Given the description of an element on the screen output the (x, y) to click on. 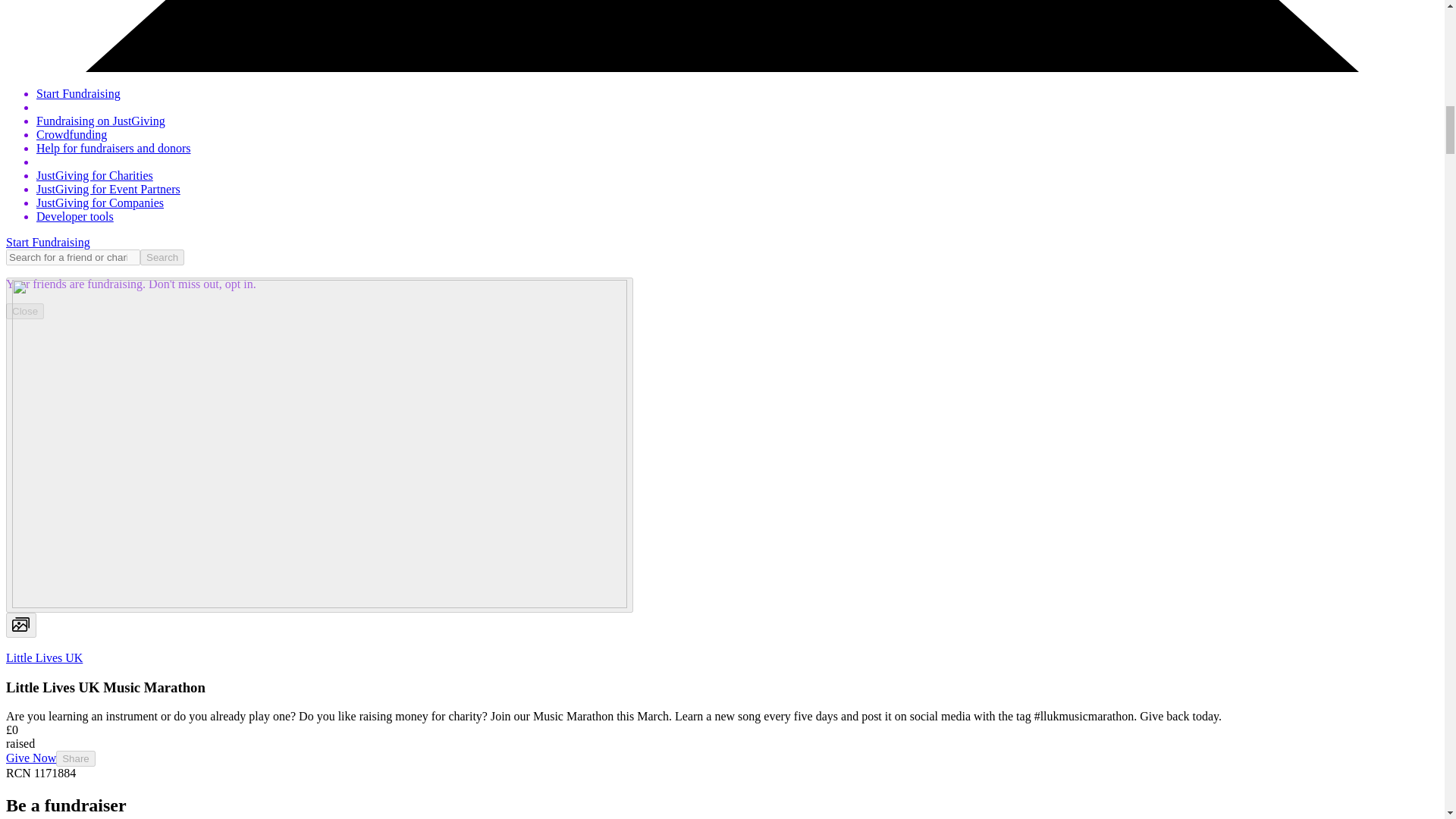
Help for fundraisers and donors (113, 147)
opt in. (239, 283)
JustGiving for Charities (94, 174)
Start Fundraising (78, 92)
Close (24, 311)
Developer tools (74, 215)
JustGiving for Companies (99, 202)
Crowdfunding (71, 133)
JustGiving for Event Partners (108, 188)
Little Lives UK (43, 657)
